Given the description of an element on the screen output the (x, y) to click on. 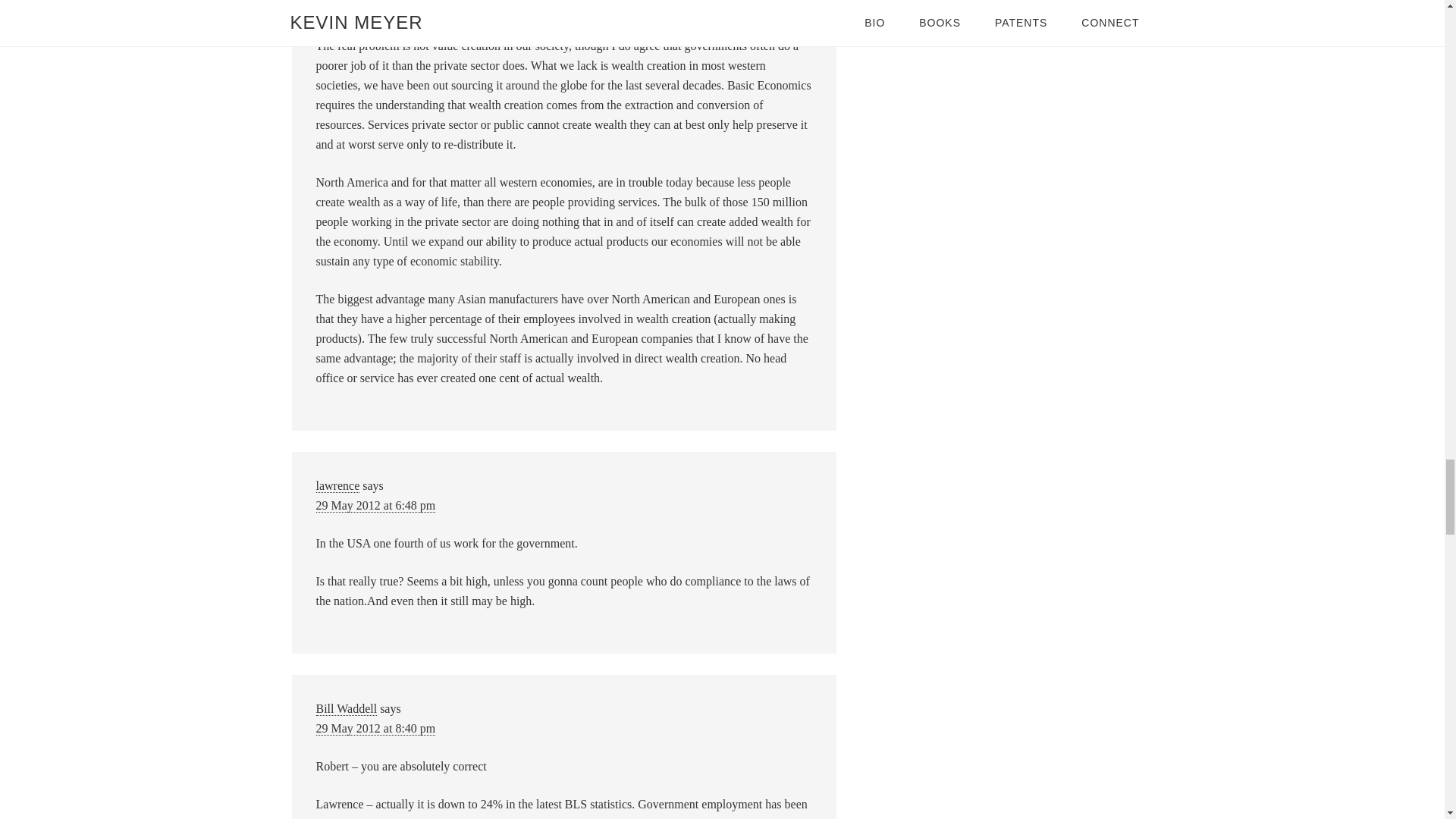
lawrence (337, 486)
29 May 2012 at 6:48 pm (375, 505)
Bill Waddell (346, 708)
29 May 2012 at 8:40 pm (375, 728)
